Given the description of an element on the screen output the (x, y) to click on. 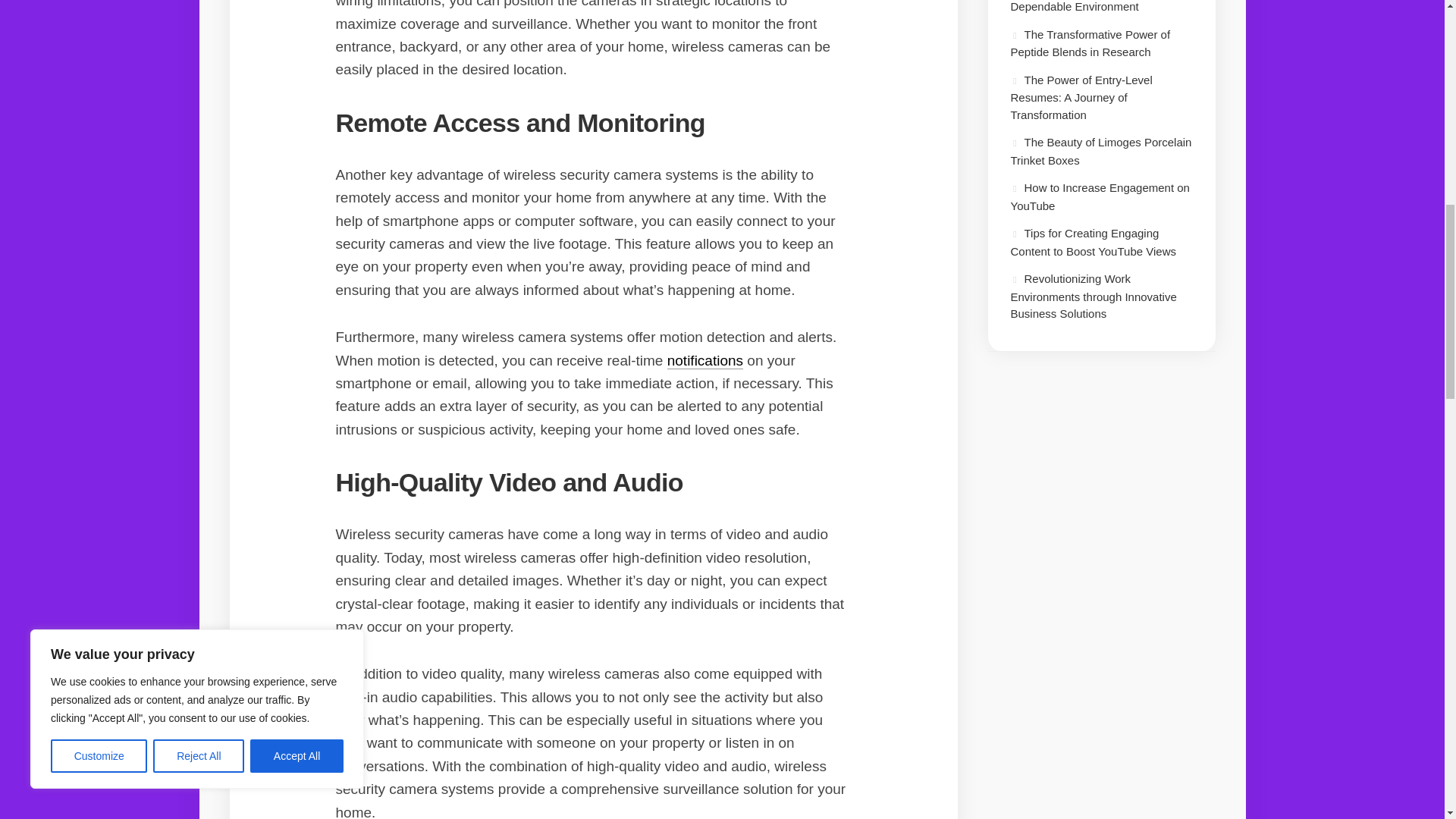
notifications (704, 360)
